Given the description of an element on the screen output the (x, y) to click on. 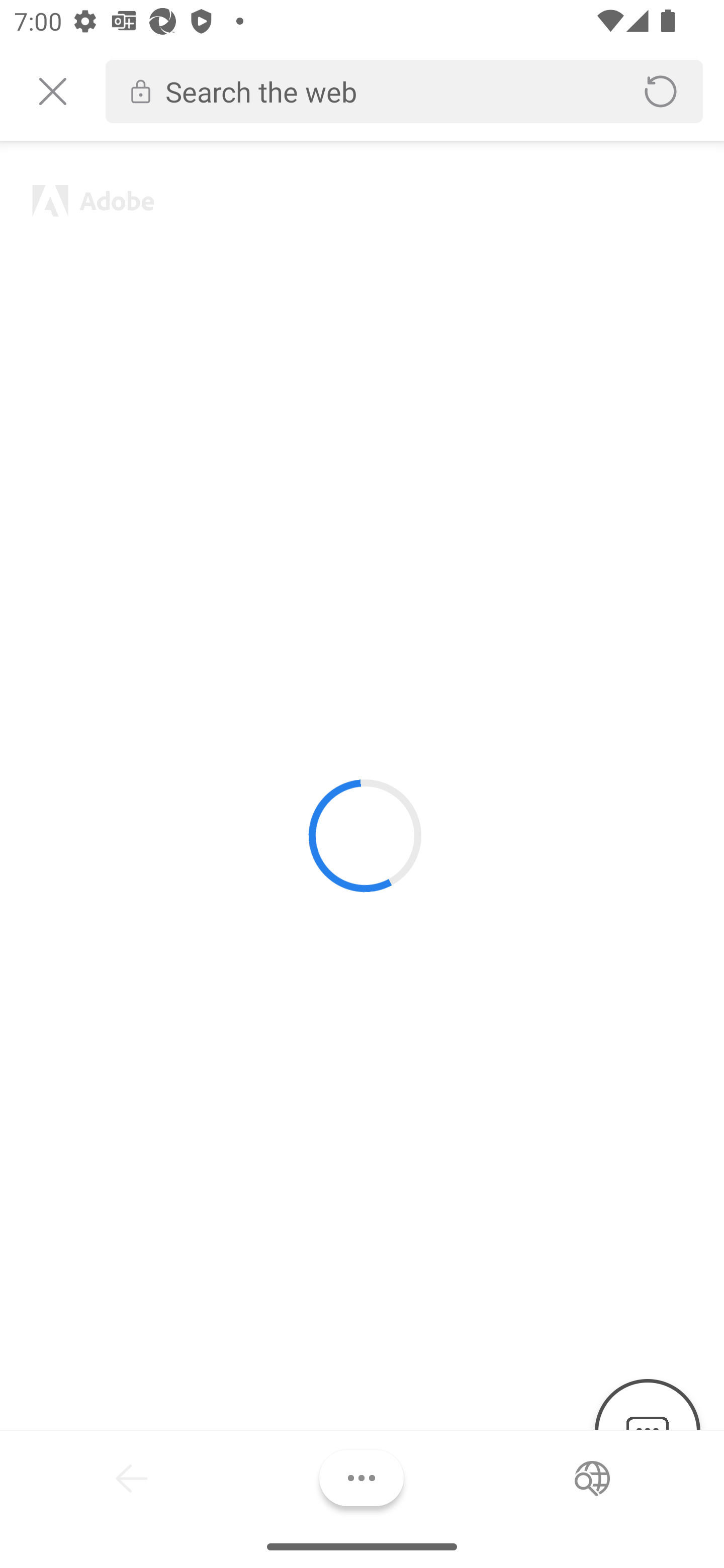
Close (52, 91)
Search the web (386, 91)
Refresh (660, 91)
Back (131, 1477)
Browser menu Browser menu Browser menu (361, 1477)
Search (591, 1477)
